Given the description of an element on the screen output the (x, y) to click on. 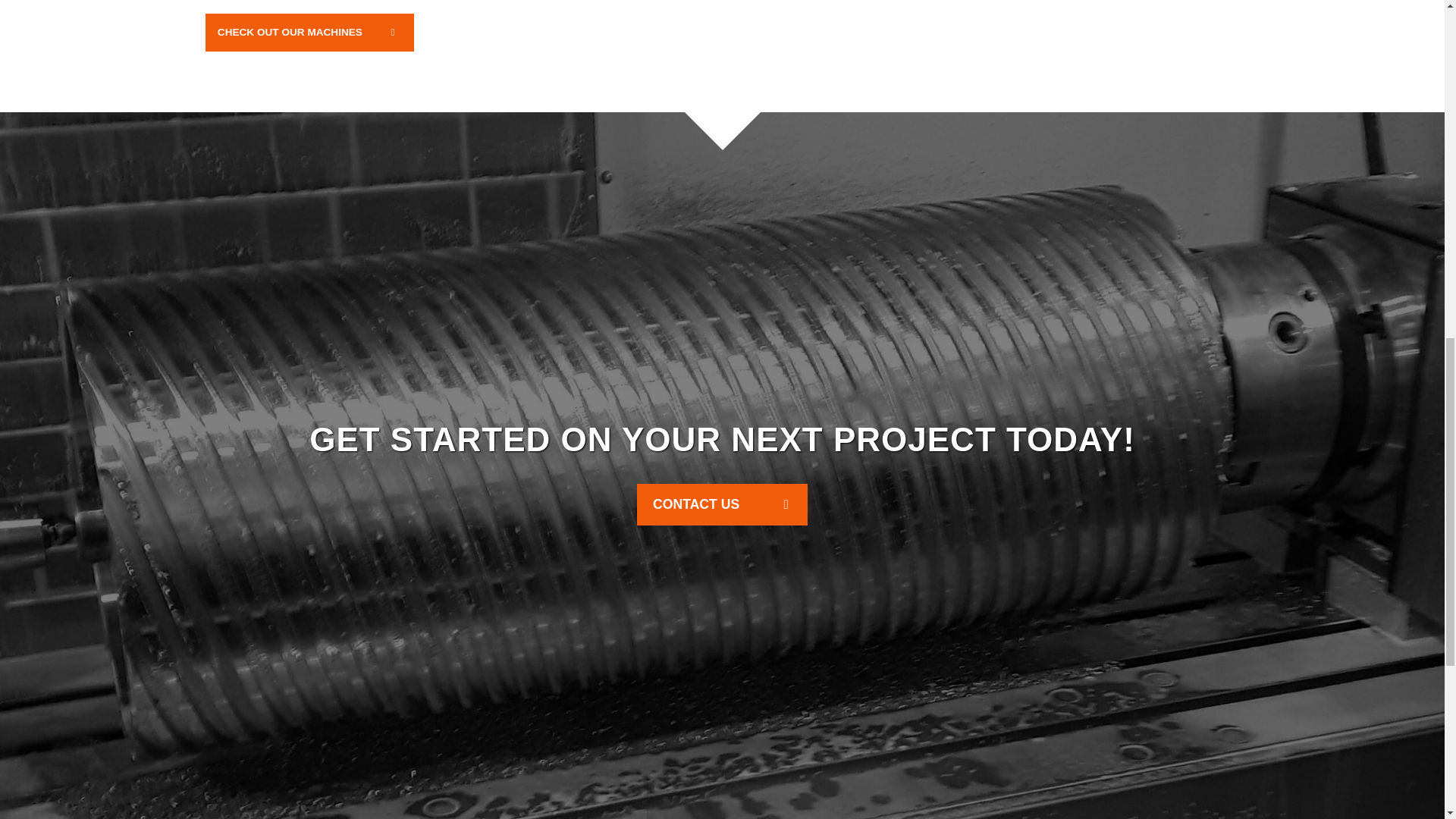
CONTACT US (722, 504)
Check out our Machines (309, 31)
CHECK OUT OUR MACHINES (309, 31)
Contact Us (722, 504)
